Given the description of an element on the screen output the (x, y) to click on. 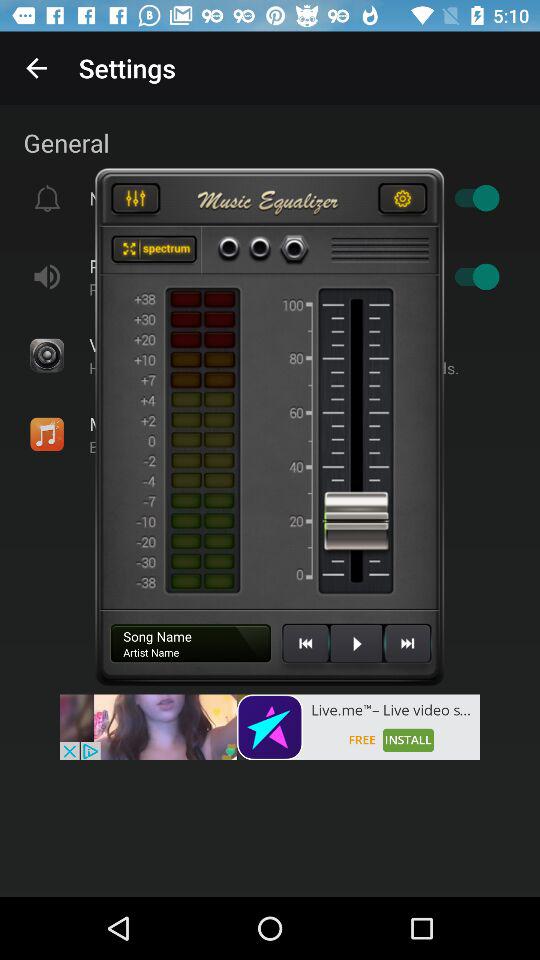
play (356, 651)
